Given the description of an element on the screen output the (x, y) to click on. 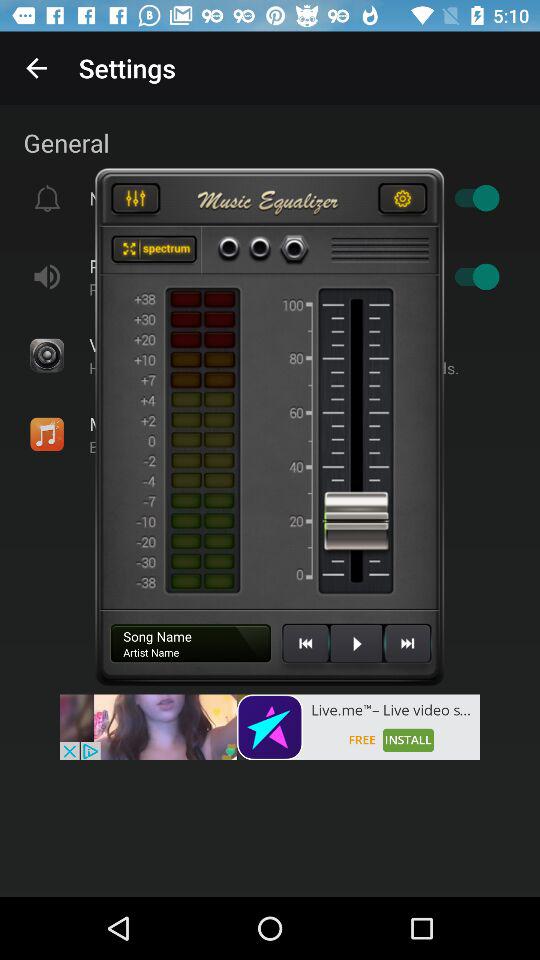
play (356, 651)
